Given the description of an element on the screen output the (x, y) to click on. 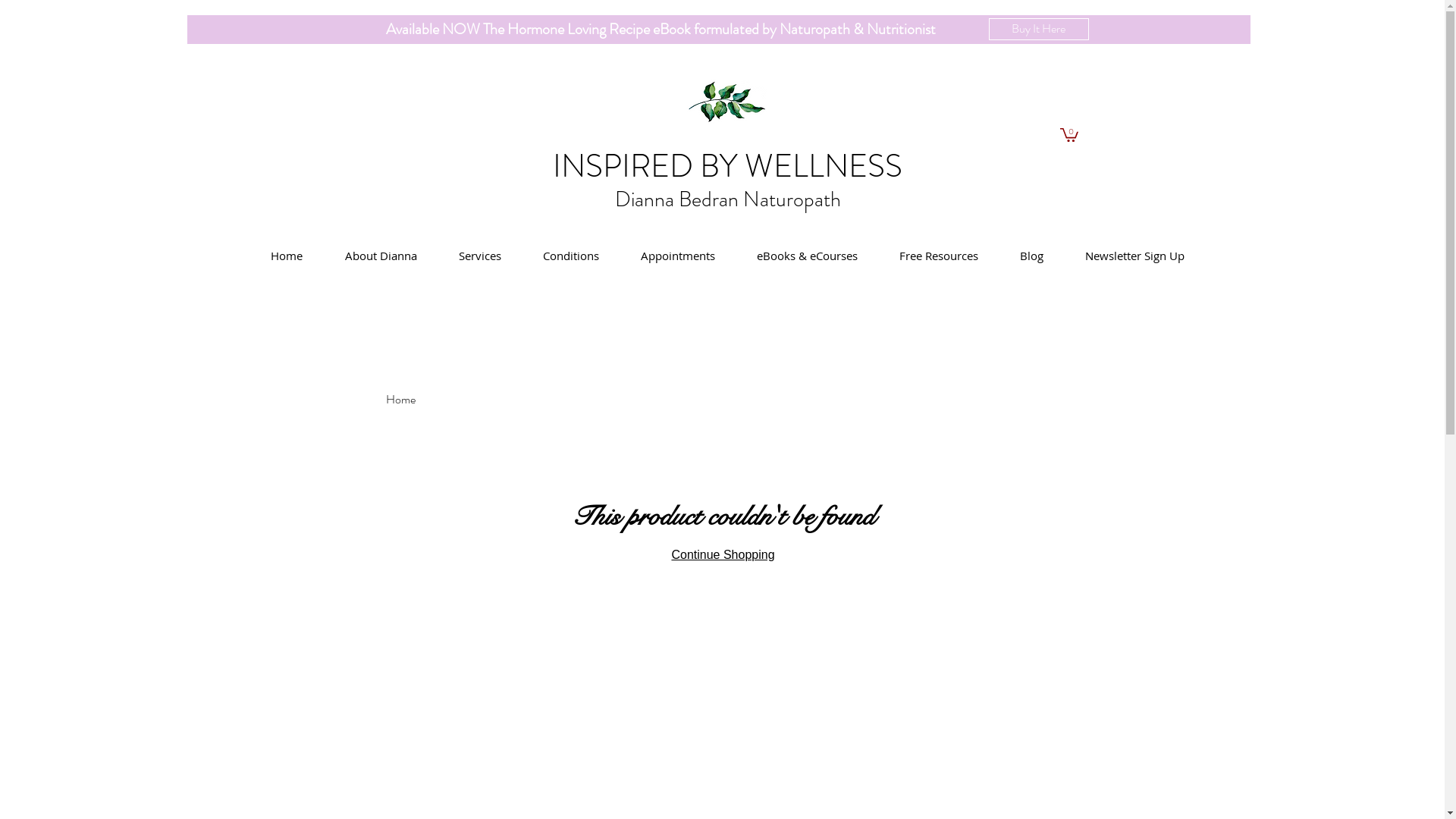
Buy It Here Element type: text (1038, 29)
Appointments Element type: text (678, 255)
Continue Shopping Element type: text (722, 554)
0 Element type: text (1069, 133)
Blog Element type: text (1031, 255)
Conditions Element type: text (570, 255)
Home Element type: text (285, 255)
eBooks & eCourses Element type: text (806, 255)
Home Element type: text (399, 398)
Free Resources Element type: text (938, 255)
Services Element type: text (480, 255)
Newsletter Sign Up Element type: text (1134, 255)
About Dianna Element type: text (380, 255)
